Given the description of an element on the screen output the (x, y) to click on. 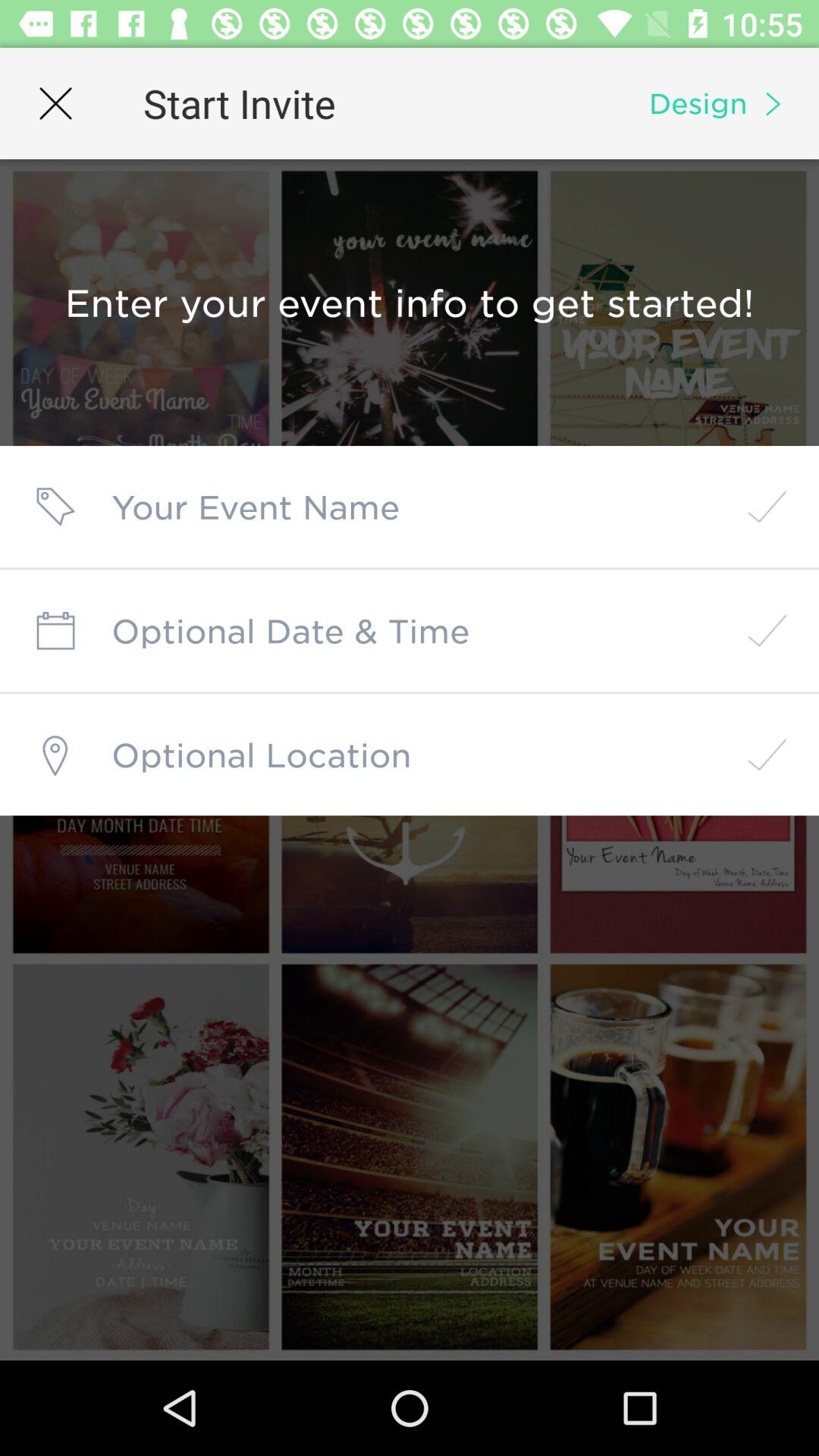
enter the event name (409, 506)
